Given the description of an element on the screen output the (x, y) to click on. 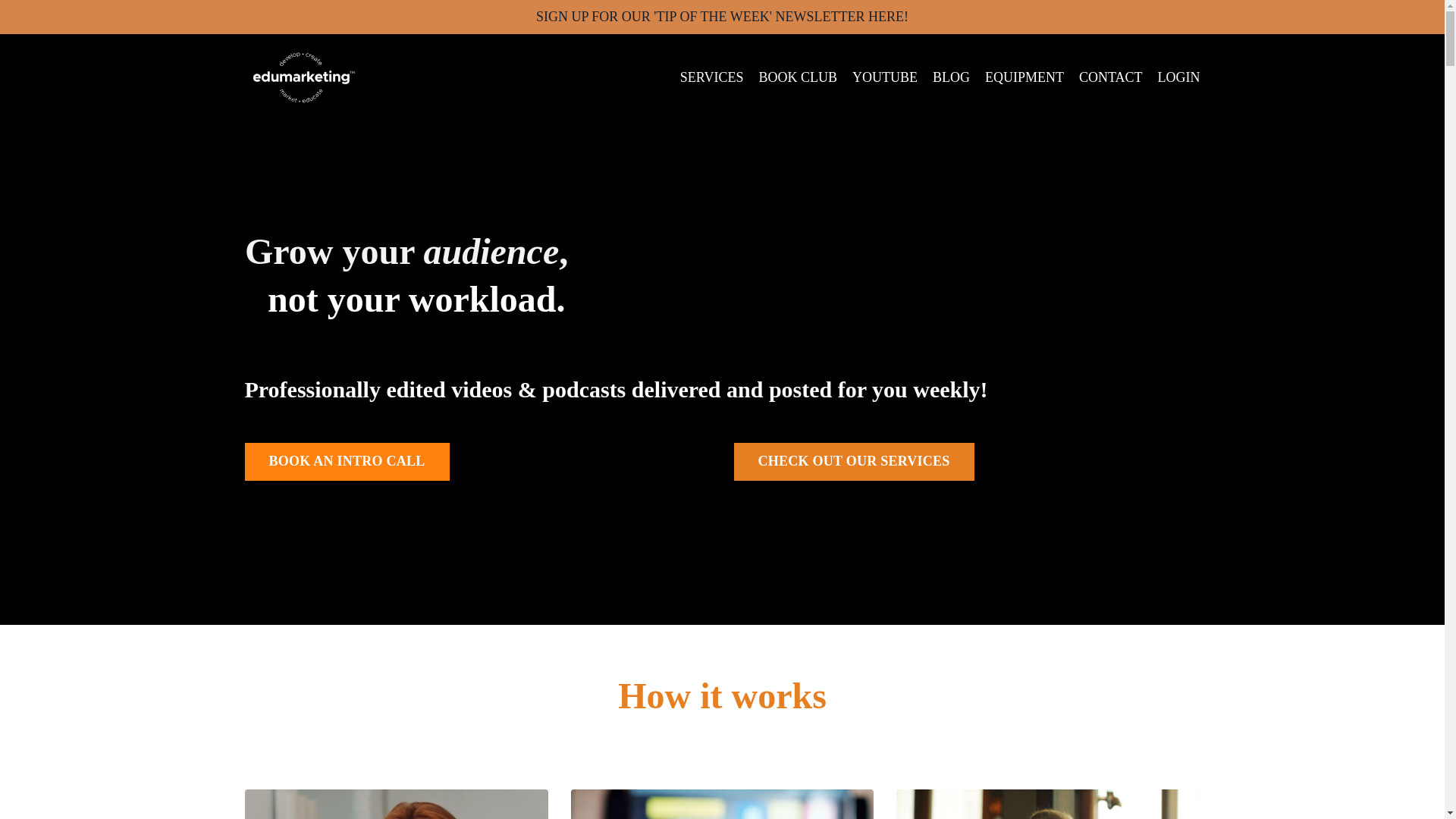
LOGIN (1178, 77)
YOUTUBE (884, 77)
BOOK AN INTRO CALL (346, 461)
BLOG (951, 77)
EQUIPMENT (1024, 77)
CHECK OUT OUR SERVICES (853, 461)
BOOK CLUB (797, 77)
SERVICES (711, 77)
CONTACT (1110, 77)
